Given the description of an element on the screen output the (x, y) to click on. 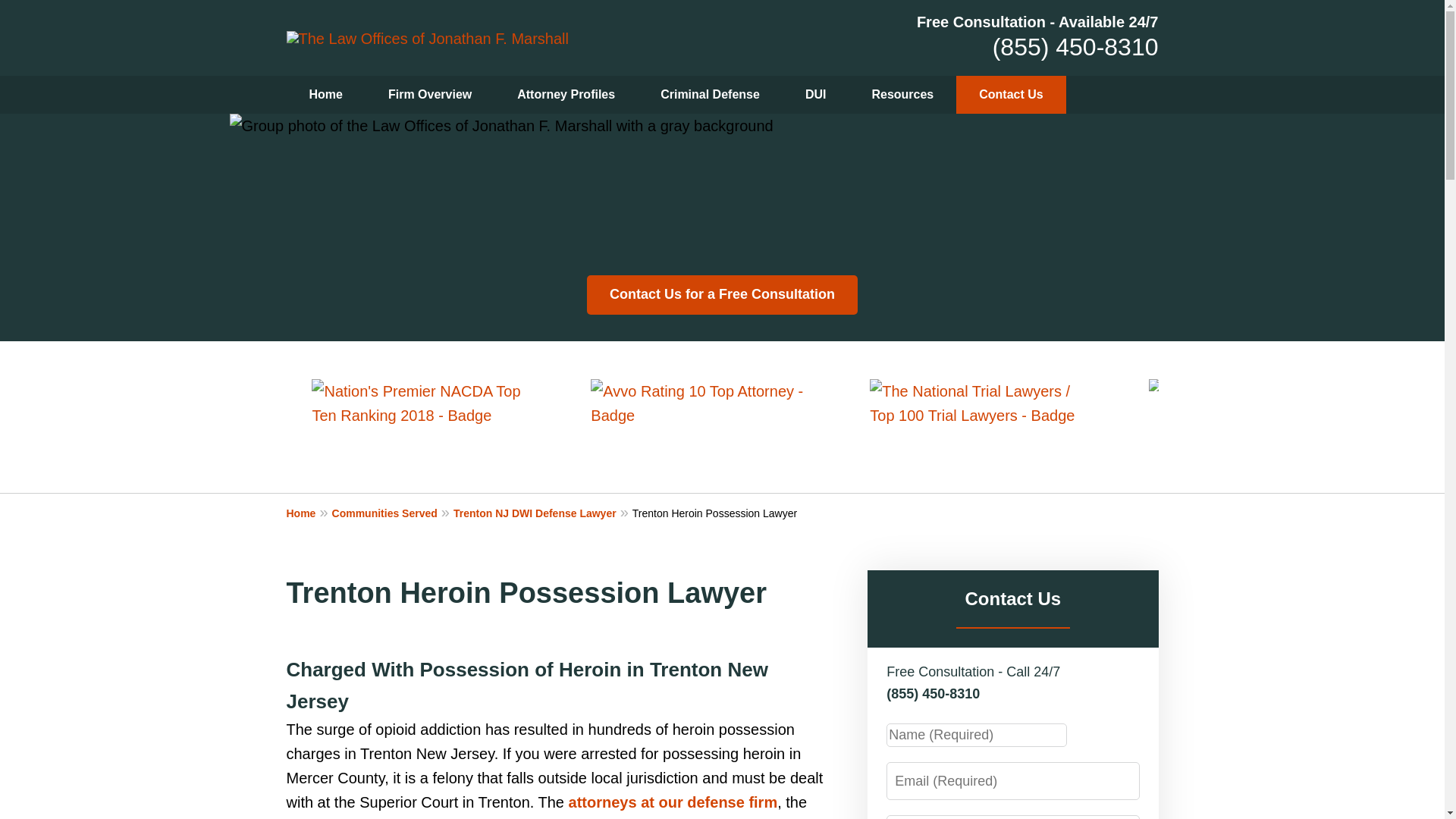
attorneys at our defense firm (673, 801)
Contact Us for a Free Consultation (721, 294)
Home (308, 513)
Home (325, 94)
Contact Us (1010, 94)
Attorney Profiles (566, 94)
Firm Overview (430, 94)
Criminal Defense (710, 94)
Trenton NJ DWI Defense Lawyer (541, 513)
DUI (815, 94)
Communities Served (391, 513)
Resources (902, 94)
